Given the description of an element on the screen output the (x, y) to click on. 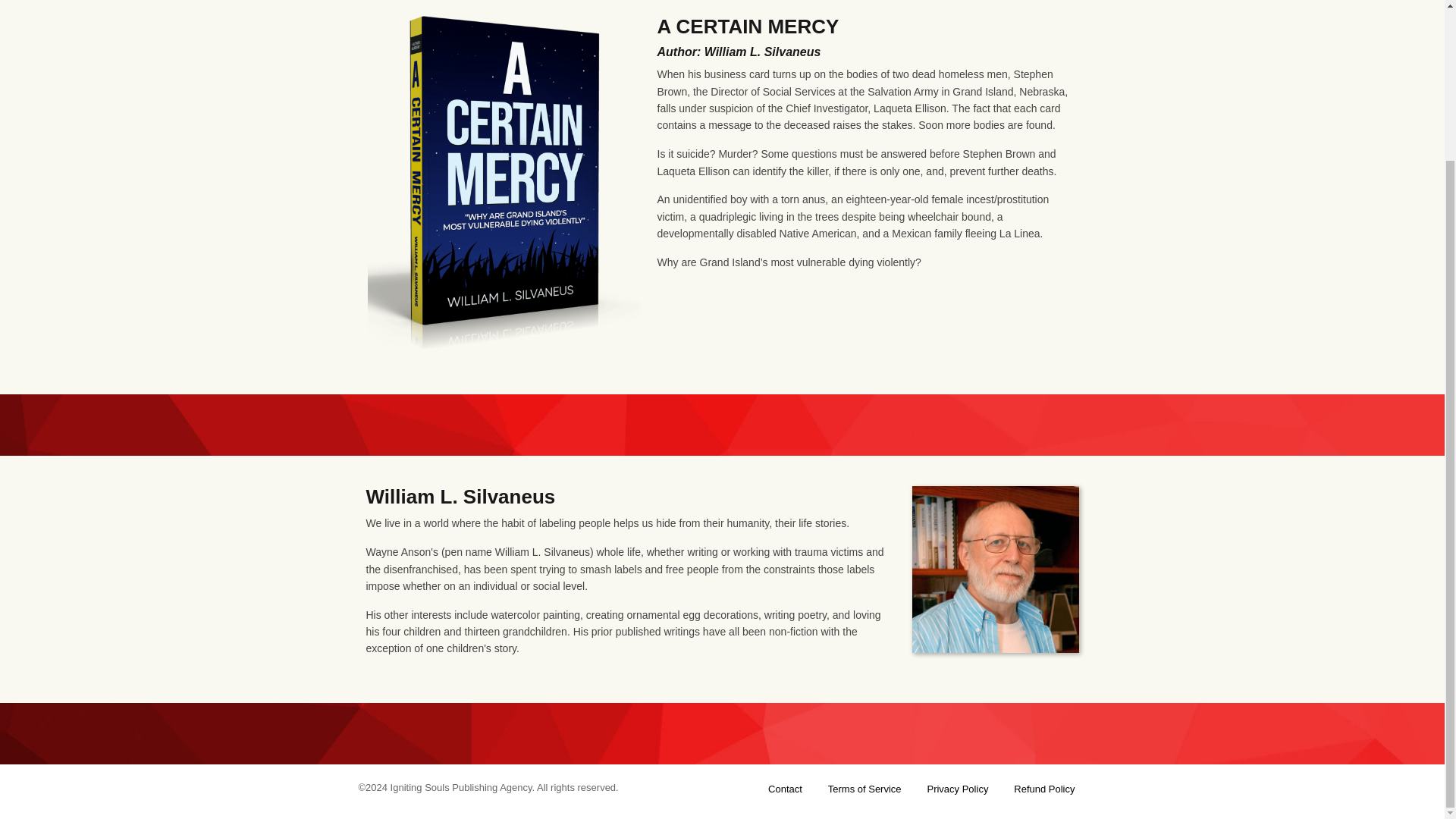
Terms of Service (864, 788)
Contact (785, 788)
Privacy Policy (957, 788)
Refund Policy (1043, 788)
